Given the description of an element on the screen output the (x, y) to click on. 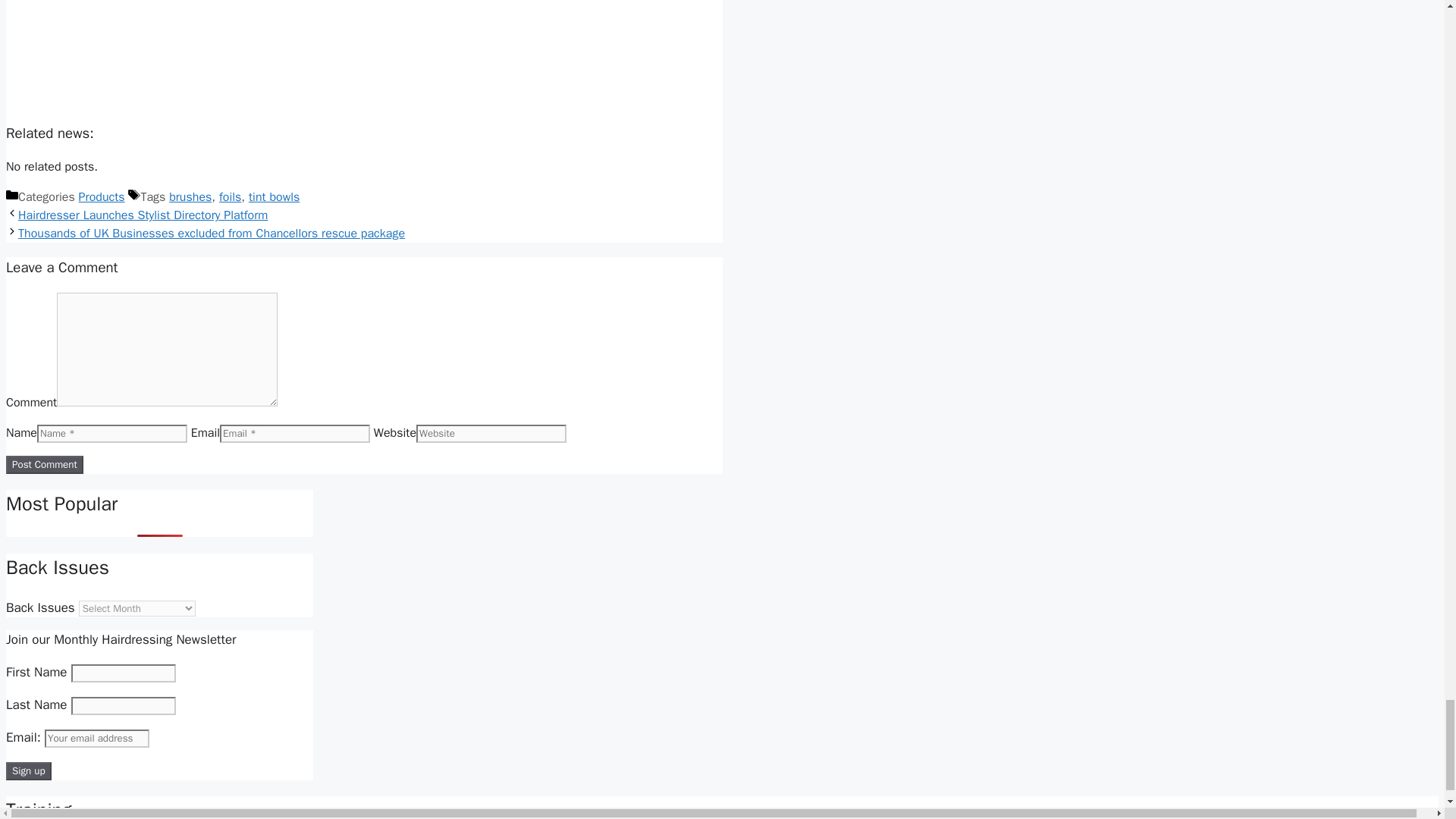
Post Comment (43, 464)
Sign up (27, 771)
